Given the description of an element on the screen output the (x, y) to click on. 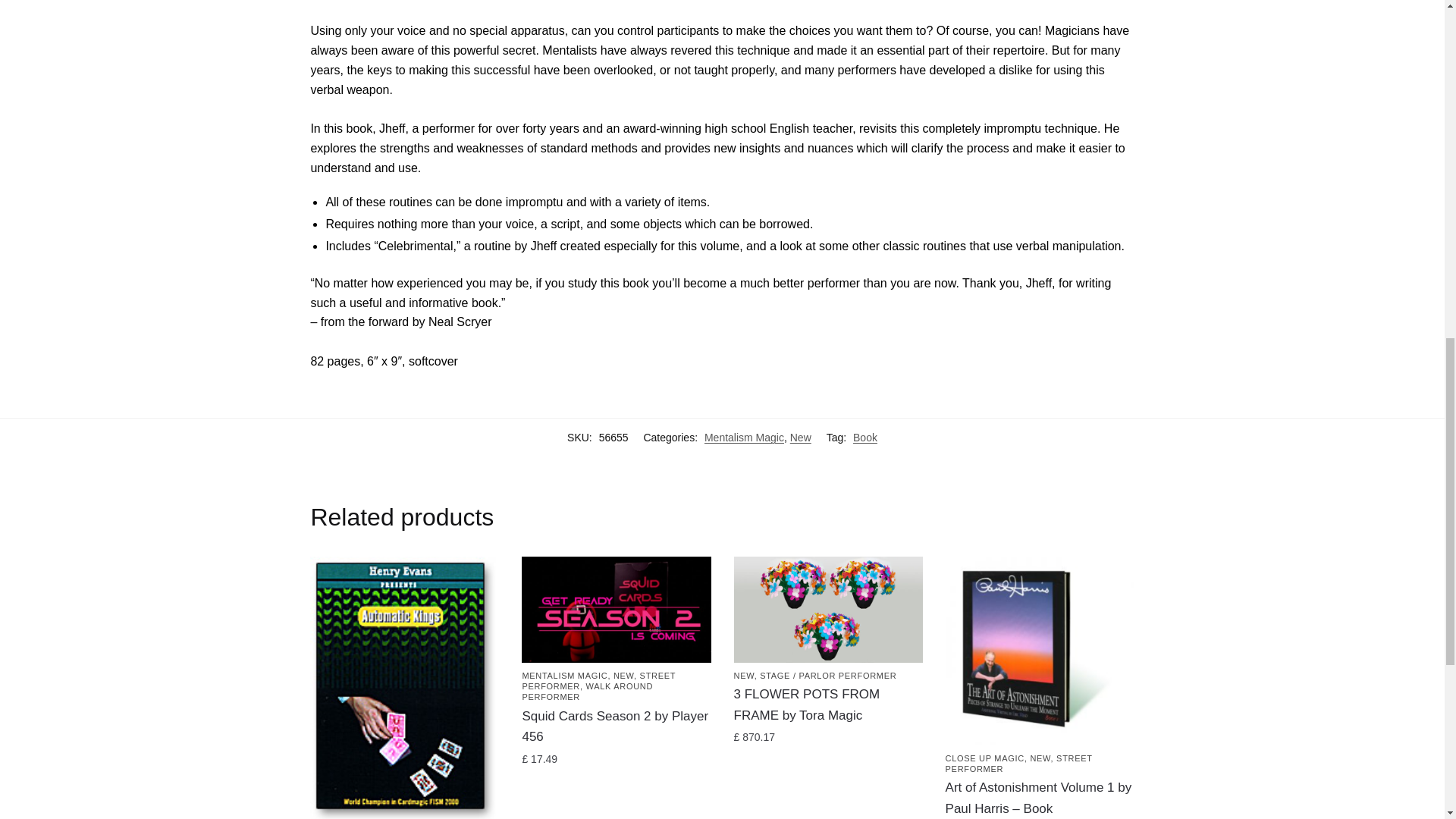
Squid Cards Season 2 by Player 456 (615, 609)
3 FLOWER POTS FROM FRAME by Tora Magic (828, 609)
